Given the description of an element on the screen output the (x, y) to click on. 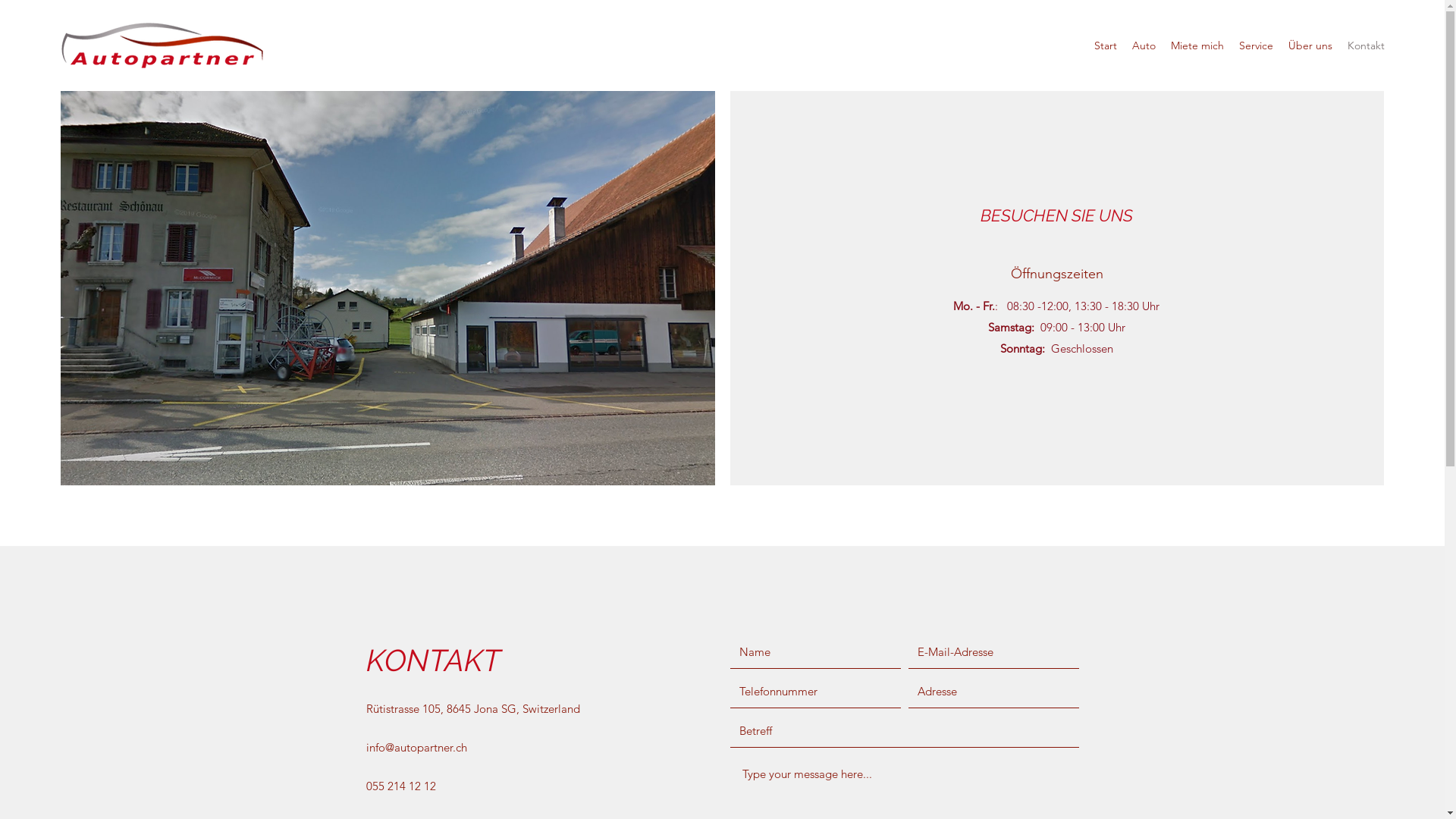
Service Element type: text (1255, 45)
Kontakt Element type: text (1365, 45)
Miete mich Element type: text (1197, 45)
Start Element type: text (1105, 45)
info@autopartner.ch Element type: text (415, 747)
Auto Element type: text (1143, 45)
